Given the description of an element on the screen output the (x, y) to click on. 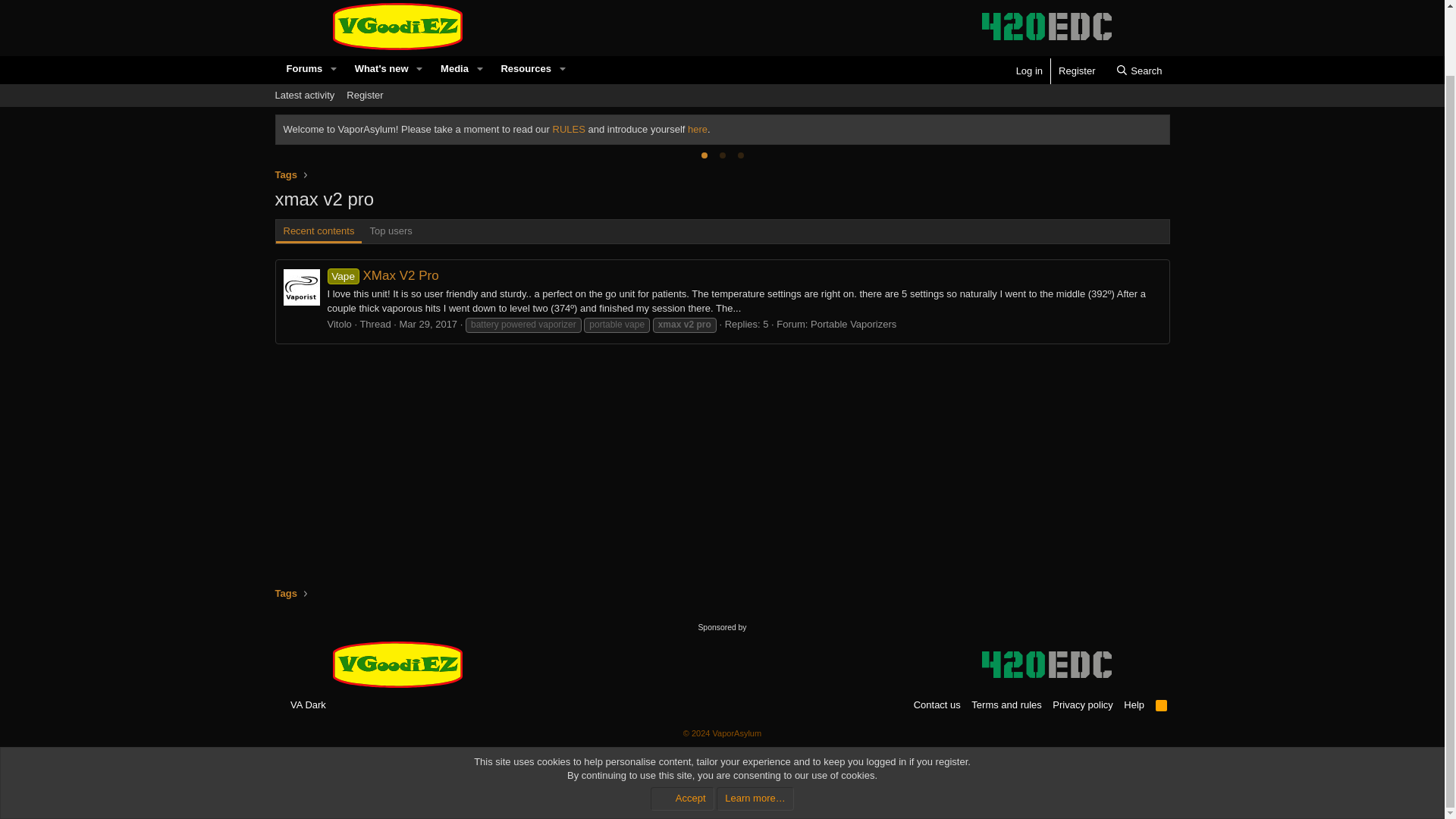
Mar 29, 2017 at 9:18 PM (427, 324)
Media (449, 68)
Getting the good stuff was never so EZ (397, 664)
Log in (1029, 71)
Search (1139, 71)
RULES (720, 112)
RSS (569, 129)
